Given the description of an element on the screen output the (x, y) to click on. 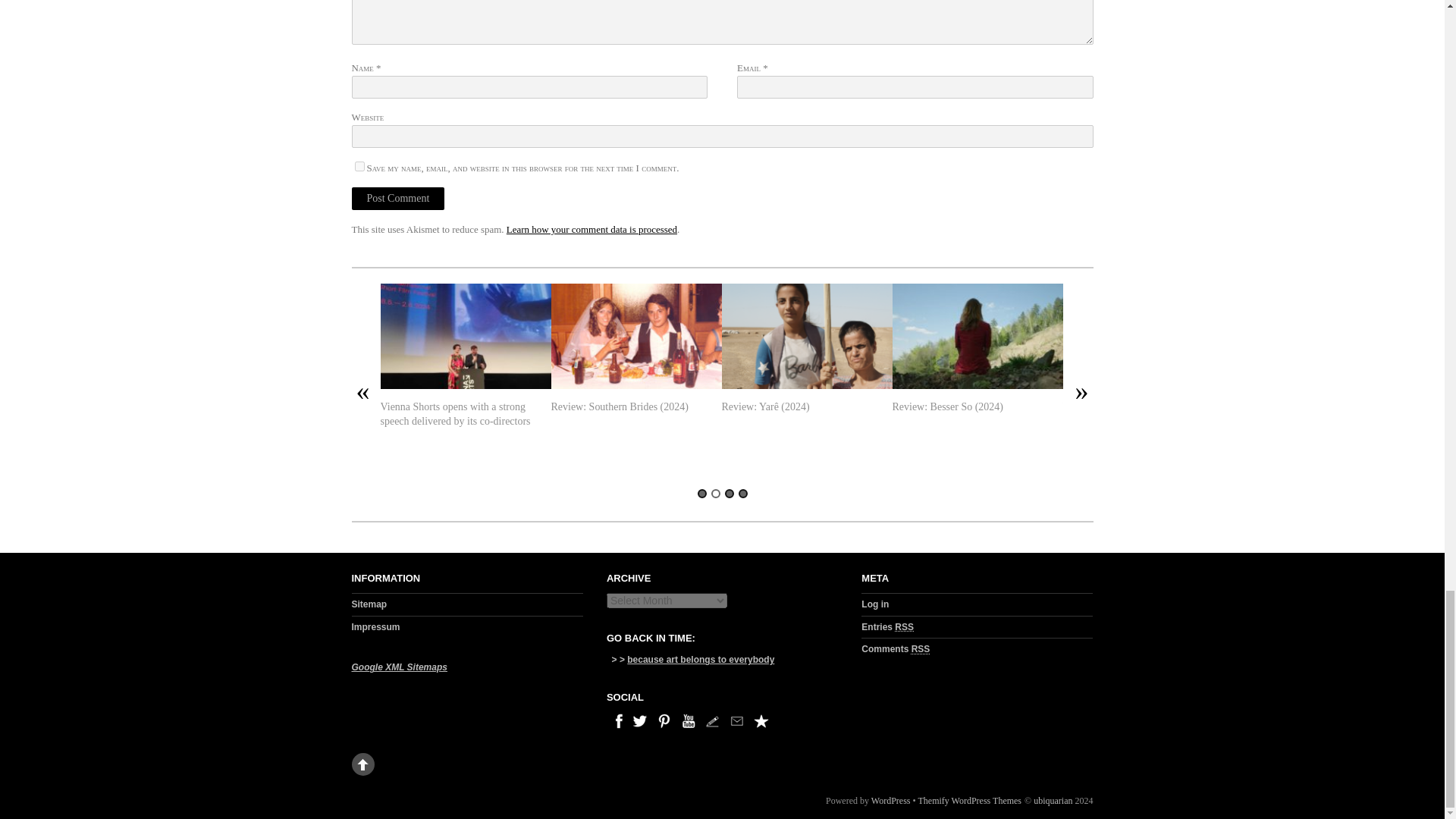
Launch Email Program (736, 720)
Contact Page (712, 720)
Pinterest (663, 720)
YouTube (688, 720)
Add to Favorites (761, 720)
Facebook (615, 720)
Follow Us On Twitter (639, 720)
Post Comment (398, 198)
yes (360, 166)
